Given the description of an element on the screen output the (x, y) to click on. 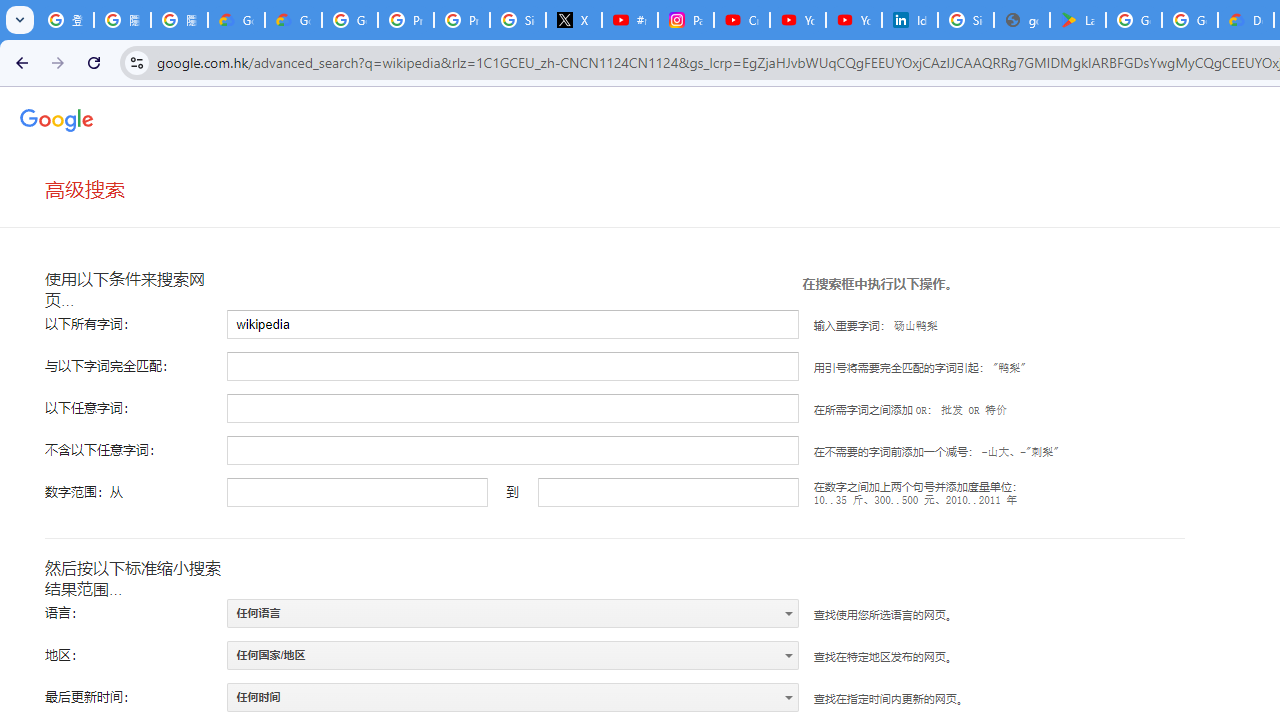
Privacy Help Center - Policies Help (461, 20)
Google Cloud Privacy Notice (235, 20)
Google Workspace - Specific Terms (1190, 20)
Sign in - Google Accounts (518, 20)
